Given the description of an element on the screen output the (x, y) to click on. 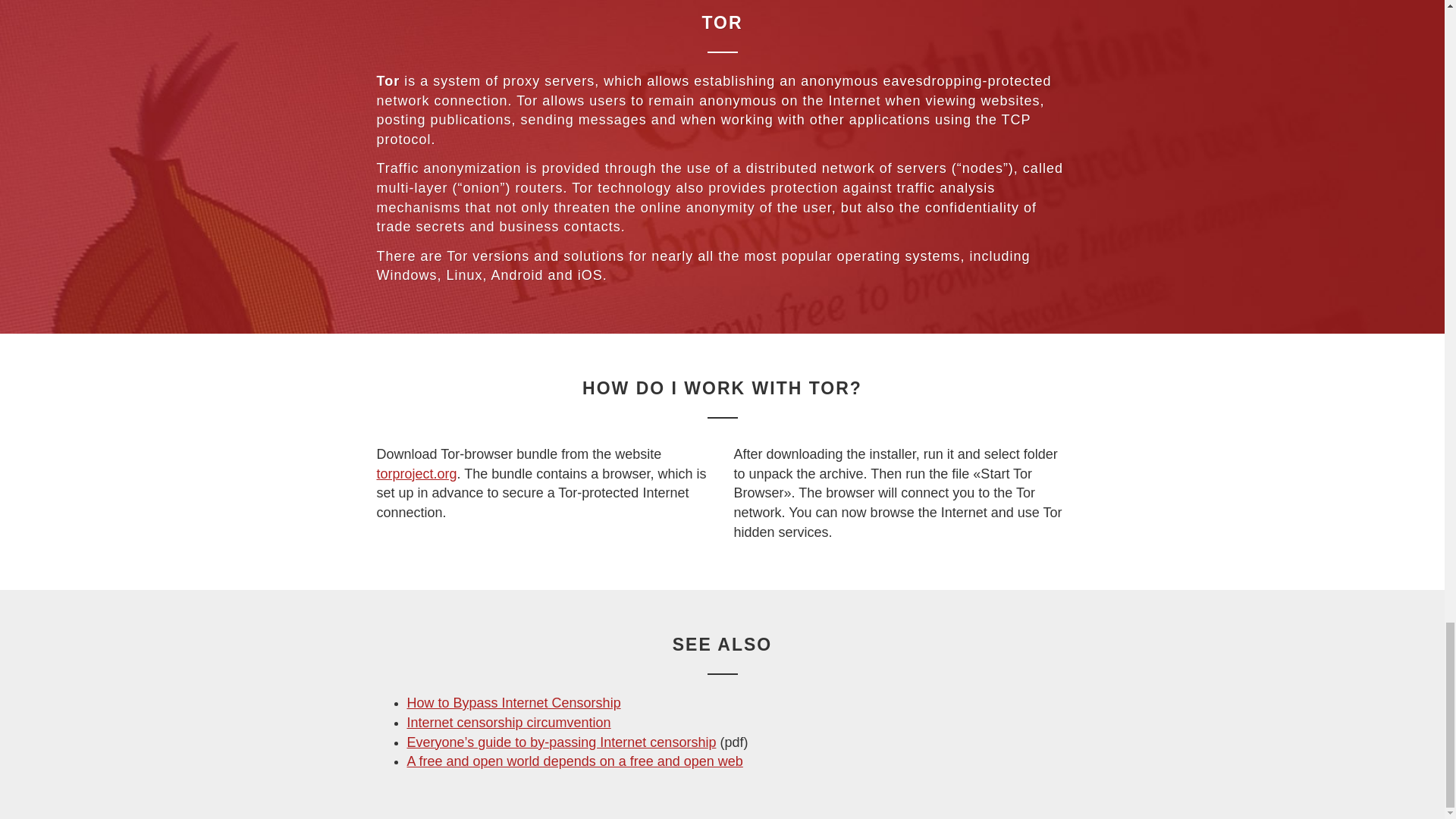
A free and open world depends on a free and open web (574, 761)
Internet censorship circumvention (508, 722)
How to Bypass Internet Censorship (513, 702)
torproject.org (416, 473)
